Given the description of an element on the screen output the (x, y) to click on. 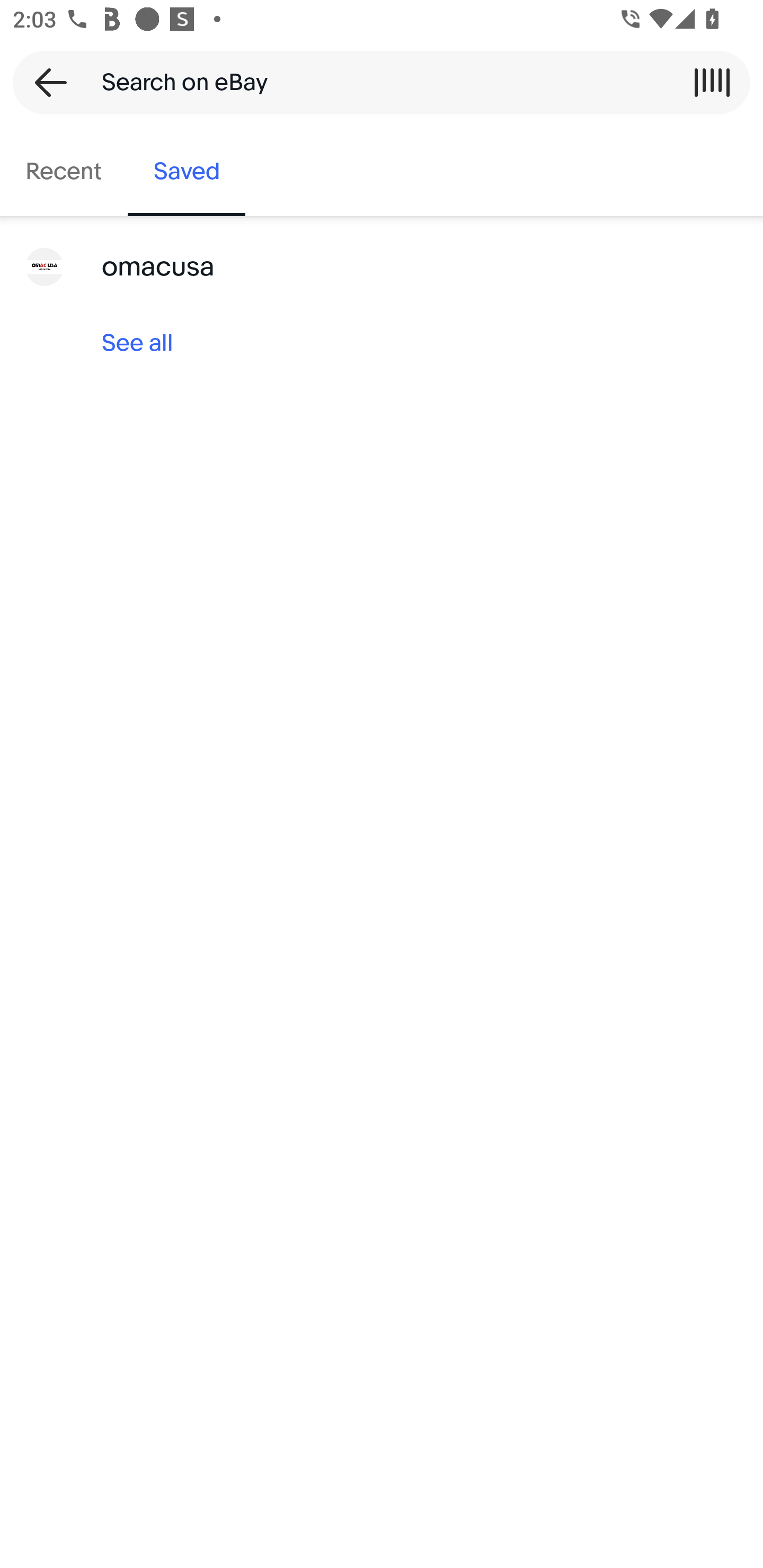
Back (44, 82)
Scan a barcode (711, 82)
Search on eBay (375, 82)
Recent, tab 1 of 2 Recent (63, 171)
User Search omacusa: omacusa (381, 266)
See all See all members (381, 343)
